Given the description of an element on the screen output the (x, y) to click on. 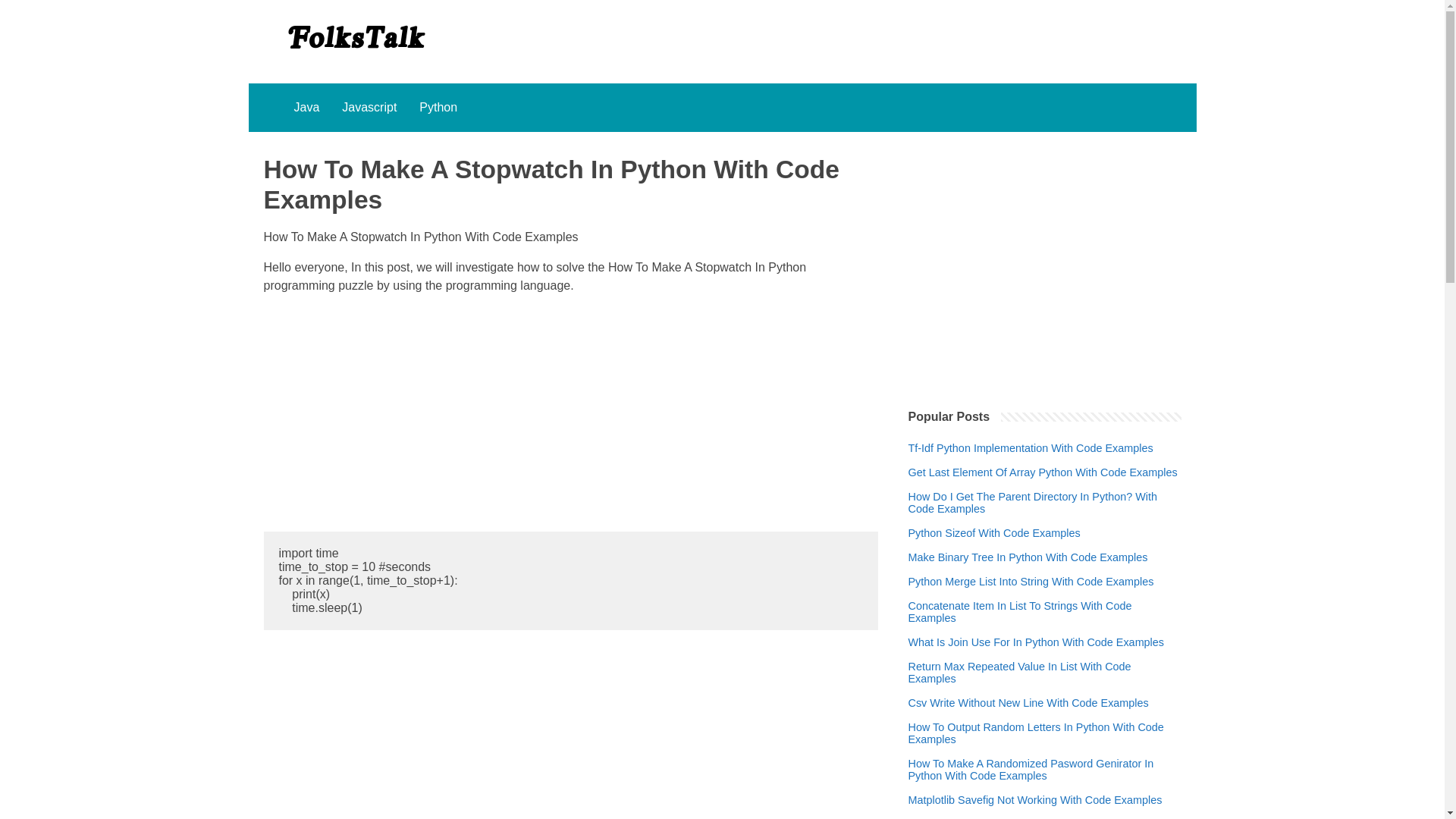
Advertisement (570, 733)
Python Sizeof With Code Examples (994, 532)
Tf-Idf Python Implementation With Code Examples (1030, 448)
Matplotlib Savefig Not Working With Code Examples (1034, 799)
Return Max Repeated Value In List With Code Examples (1044, 672)
Python Merge List Into String With Code Examples (1031, 581)
Advertisement (570, 413)
What Is Join Use For In Python With Code Examples (1036, 642)
Concatenate Item In List To Strings With Code Examples (1044, 611)
